Given the description of an element on the screen output the (x, y) to click on. 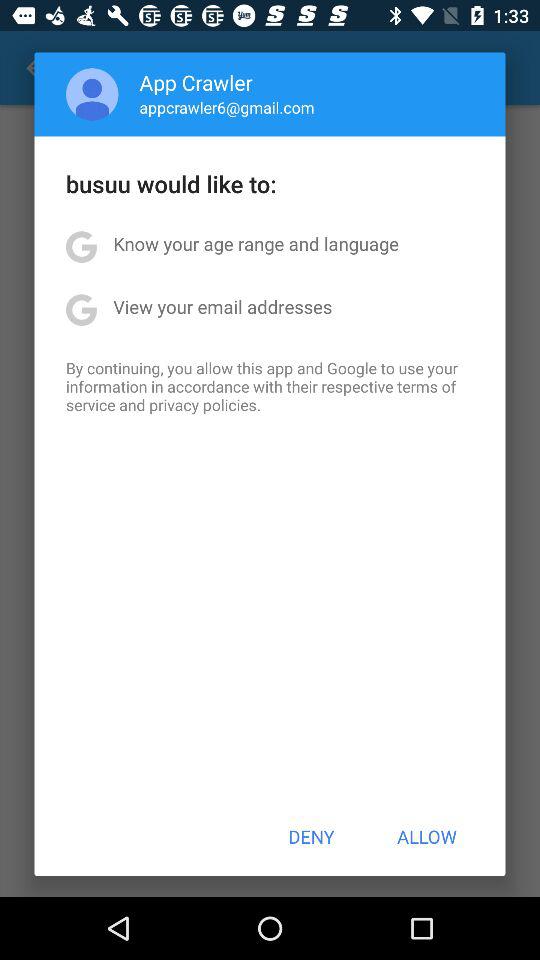
swipe to the appcrawler6@gmail.com (226, 107)
